Given the description of an element on the screen output the (x, y) to click on. 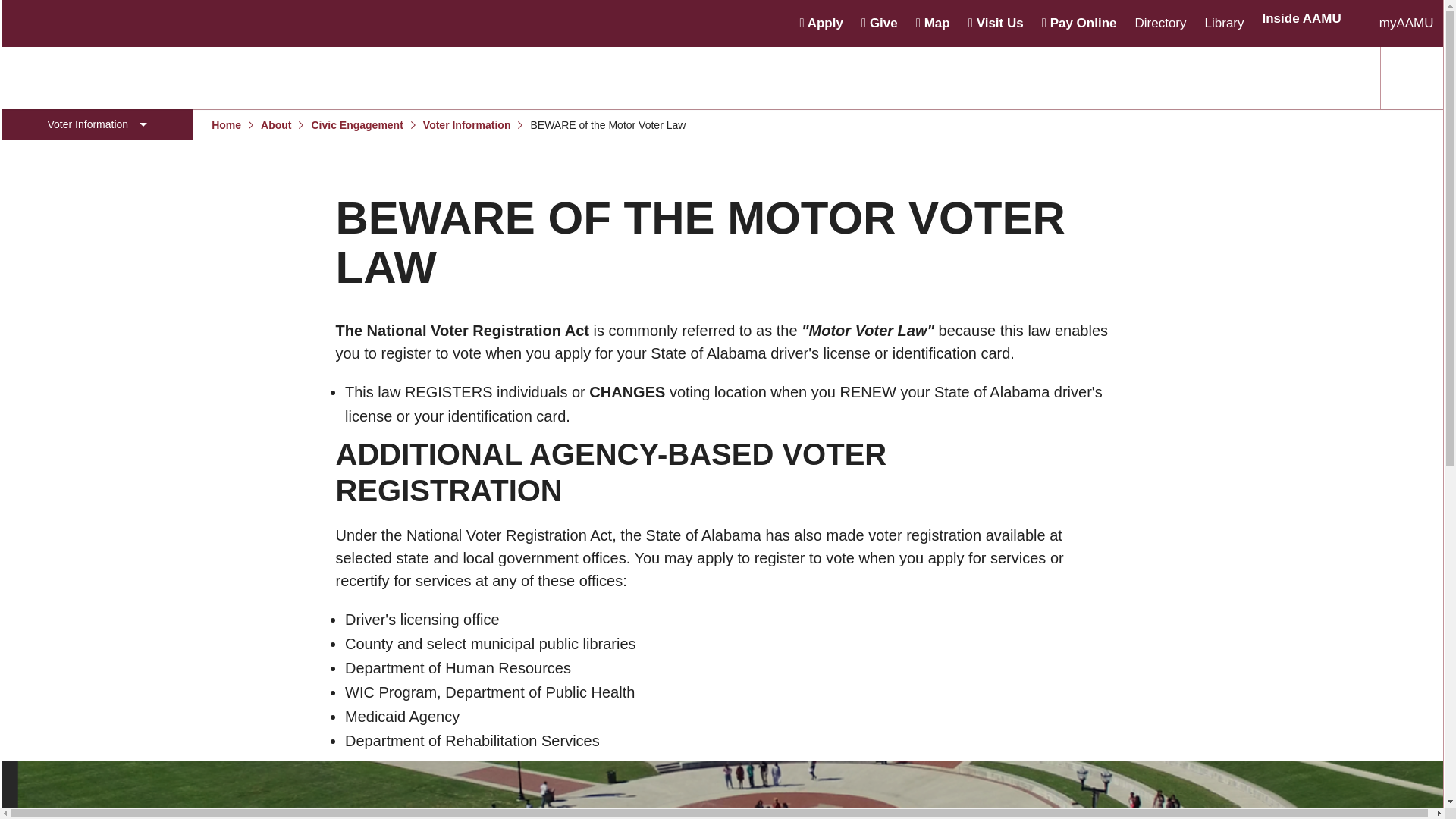
Apply (821, 22)
Voter Information (96, 123)
Library (1224, 22)
Map (932, 22)
Inside AAMU (1301, 18)
myAAMU (1406, 22)
Toggle Inside AAMU menu section (1311, 23)
Pay Online (1079, 22)
Visit Us (995, 22)
Give (879, 22)
Directory (1160, 22)
